Given the description of an element on the screen output the (x, y) to click on. 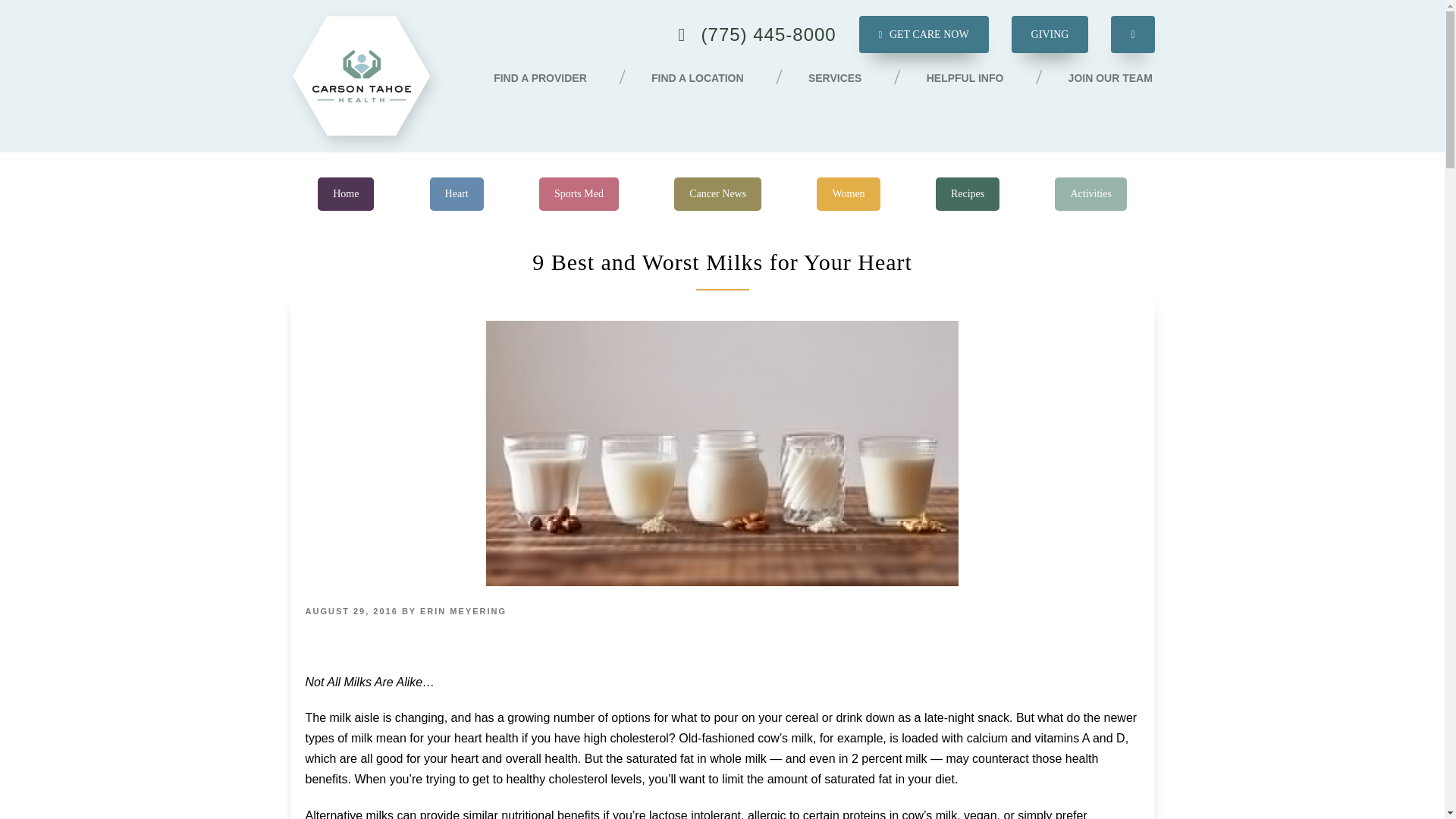
HELPFUL INFO (965, 78)
FIND A PROVIDER (539, 78)
FIND A LOCATION (697, 78)
Activities (1089, 193)
Join Our Team (1110, 78)
Sports Med (578, 193)
Recipes (967, 193)
Call Us! (756, 34)
SERVICES (834, 78)
GIVING (1050, 34)
